Given the description of an element on the screen output the (x, y) to click on. 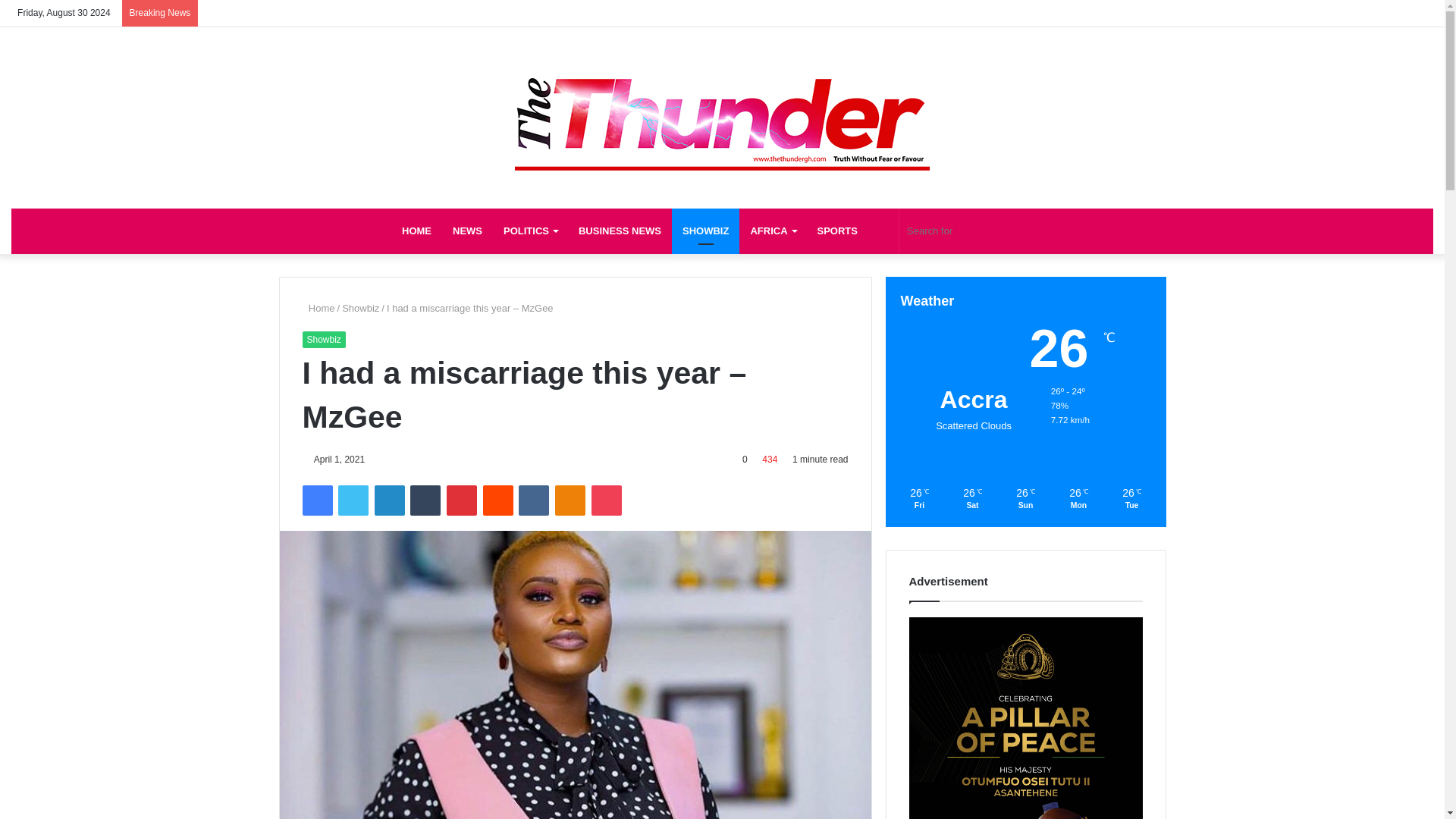
LinkedIn (389, 500)
AFRICA (772, 230)
HOME (416, 230)
Home (317, 307)
POLITICS (530, 230)
Showbiz (323, 339)
Pinterest (461, 500)
Twitter (352, 500)
NEWS (467, 230)
Odnoklassniki (569, 500)
